Given the description of an element on the screen output the (x, y) to click on. 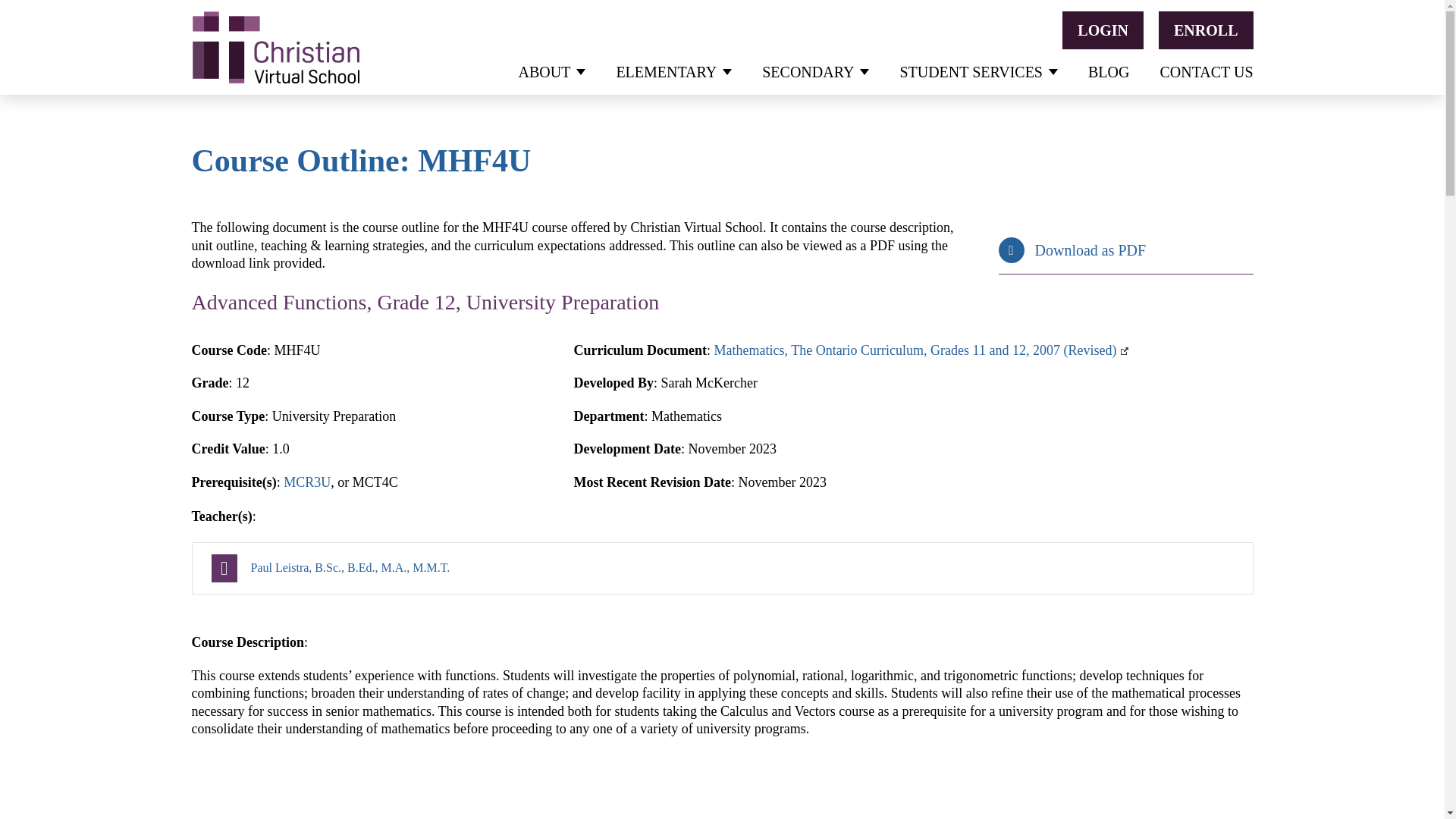
SECONDARY (815, 71)
ENROLL (1205, 30)
STUDENT SERVICES (978, 71)
BLOG (1108, 71)
ELEMENTARY (673, 71)
ABOUT (552, 71)
CONTACT US (1205, 71)
LOGIN (1102, 30)
